Given the description of an element on the screen output the (x, y) to click on. 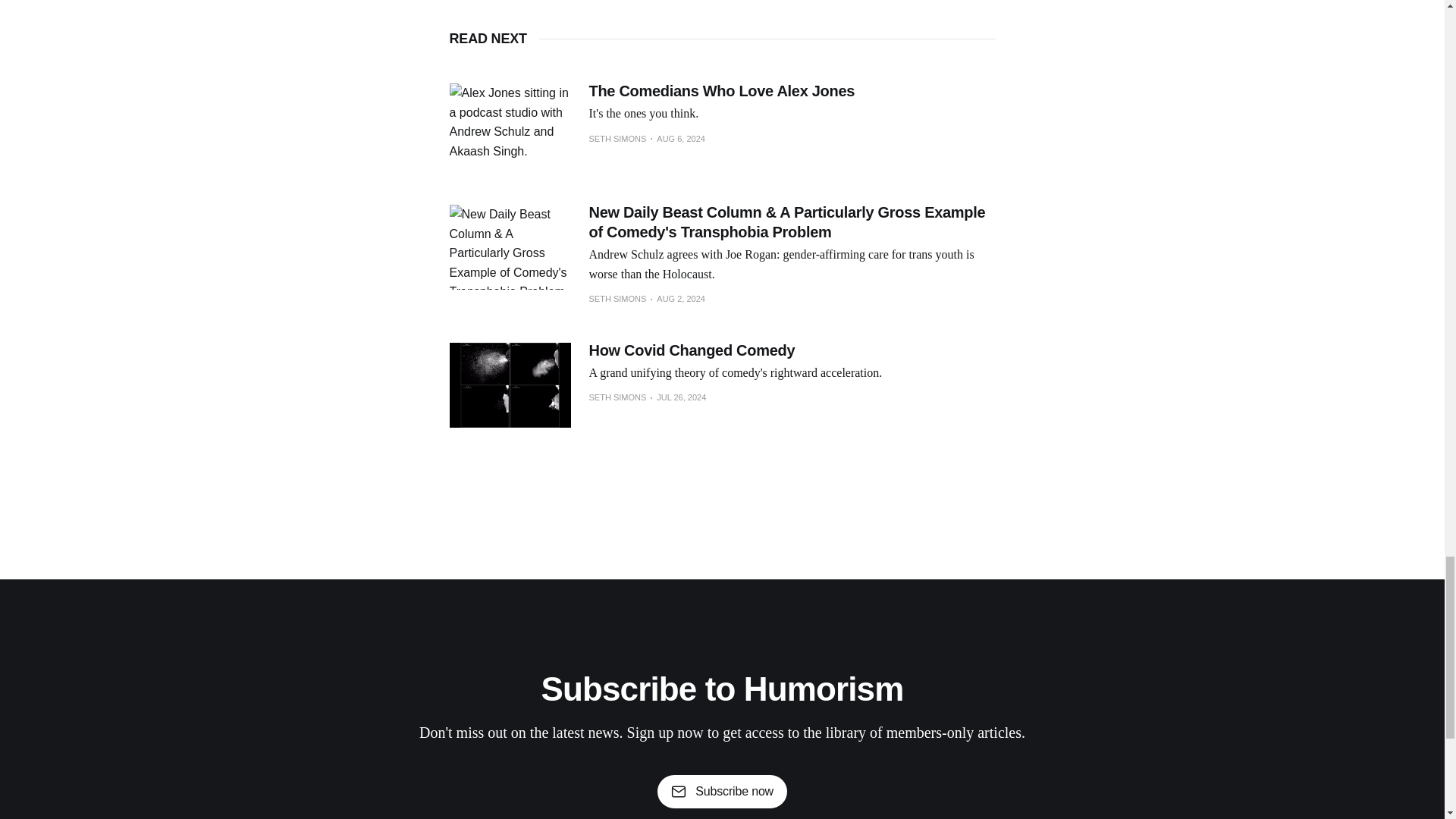
Subscribe now (722, 791)
